Given the description of an element on the screen output the (x, y) to click on. 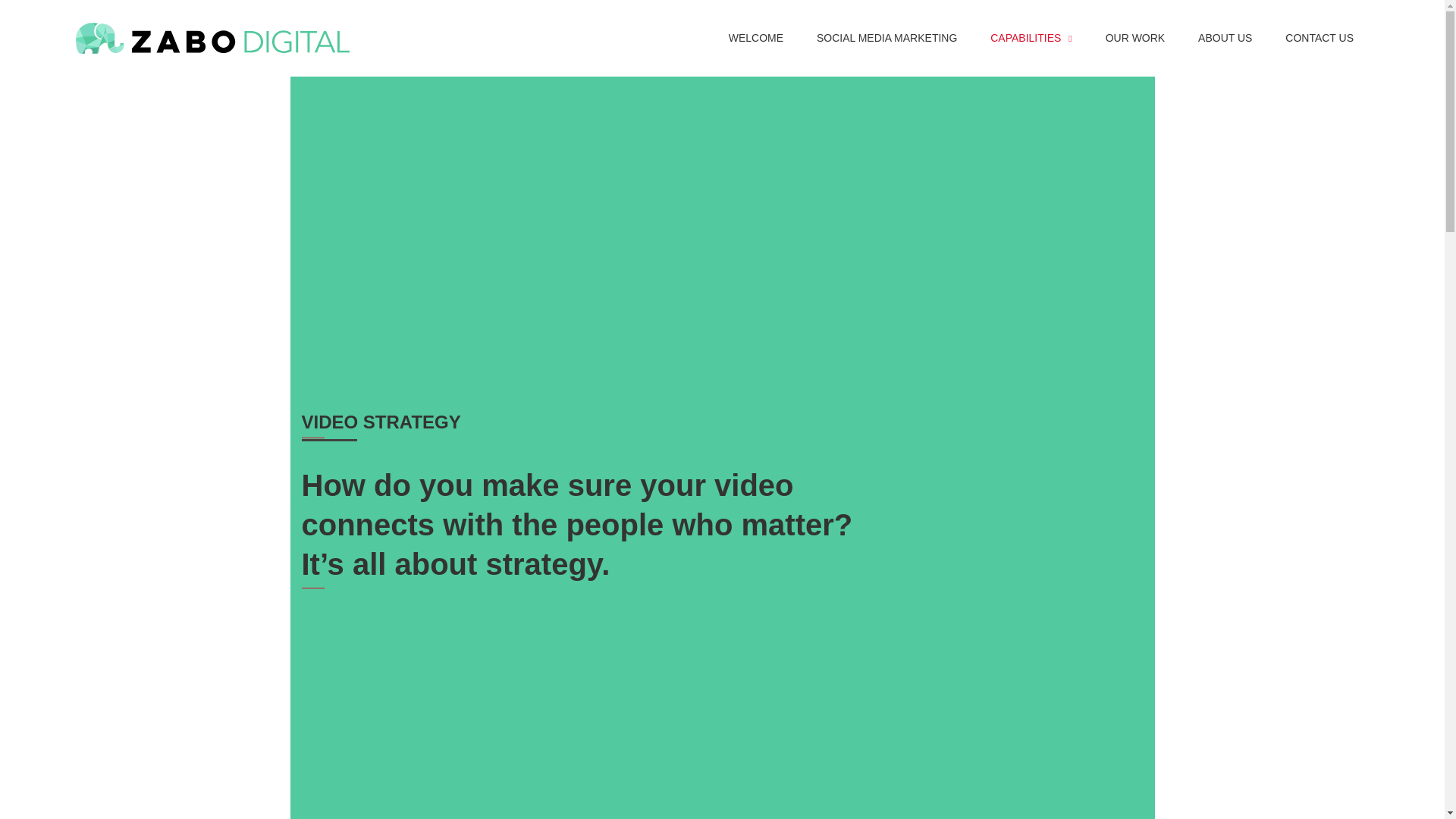
SOCIAL MEDIA MARKETING (887, 38)
Zabodigital (212, 38)
WELCOME (755, 38)
OUR WORK (1135, 38)
ABOUT US (1224, 38)
CONTACT US (1318, 38)
CAPABILITIES (1031, 38)
